Given the description of an element on the screen output the (x, y) to click on. 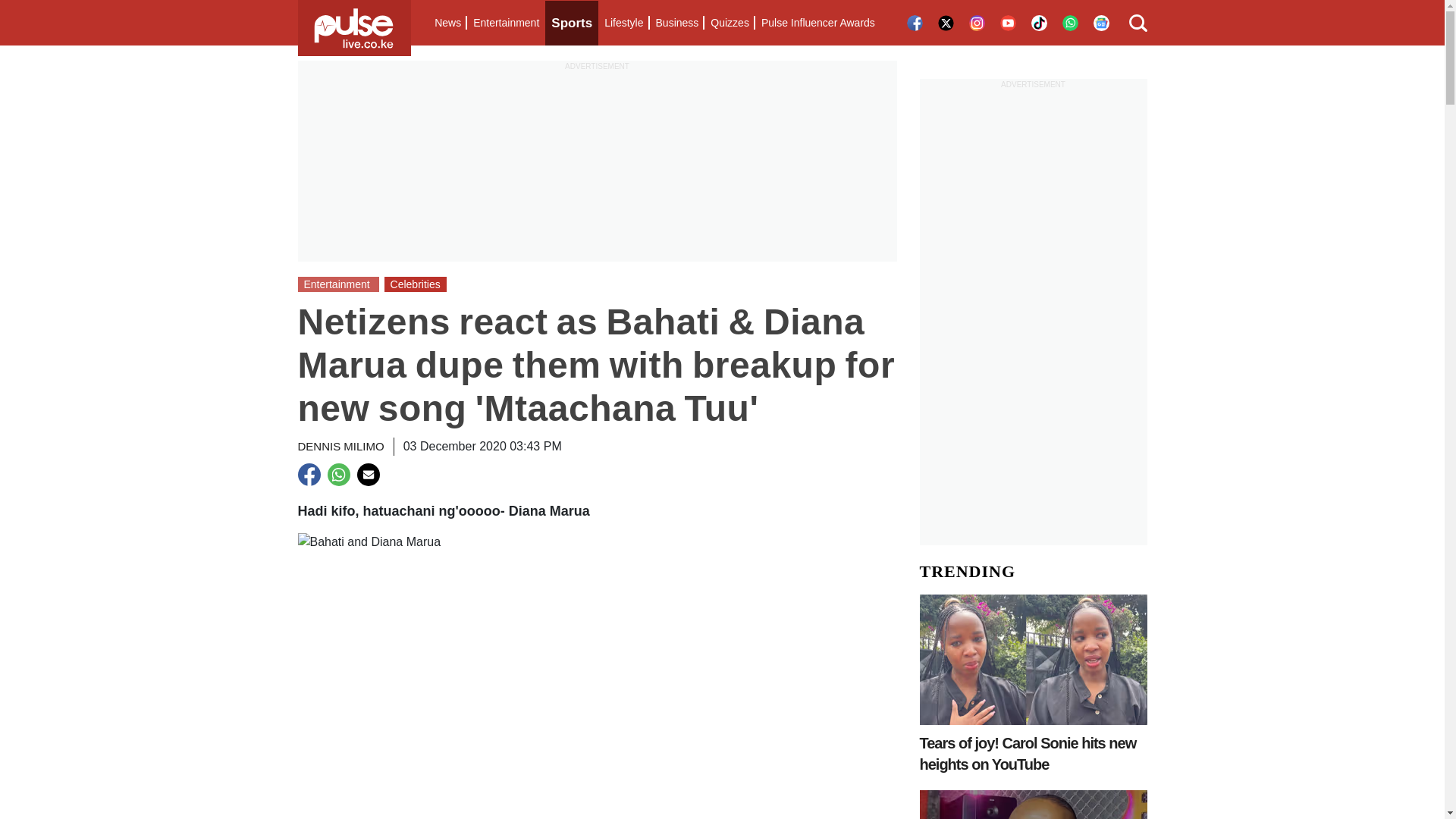
Pulse Influencer Awards (817, 22)
Quizzes (729, 22)
Business (676, 22)
Entertainment (505, 22)
Sports (571, 22)
Lifestyle (623, 22)
News (447, 22)
